Given the description of an element on the screen output the (x, y) to click on. 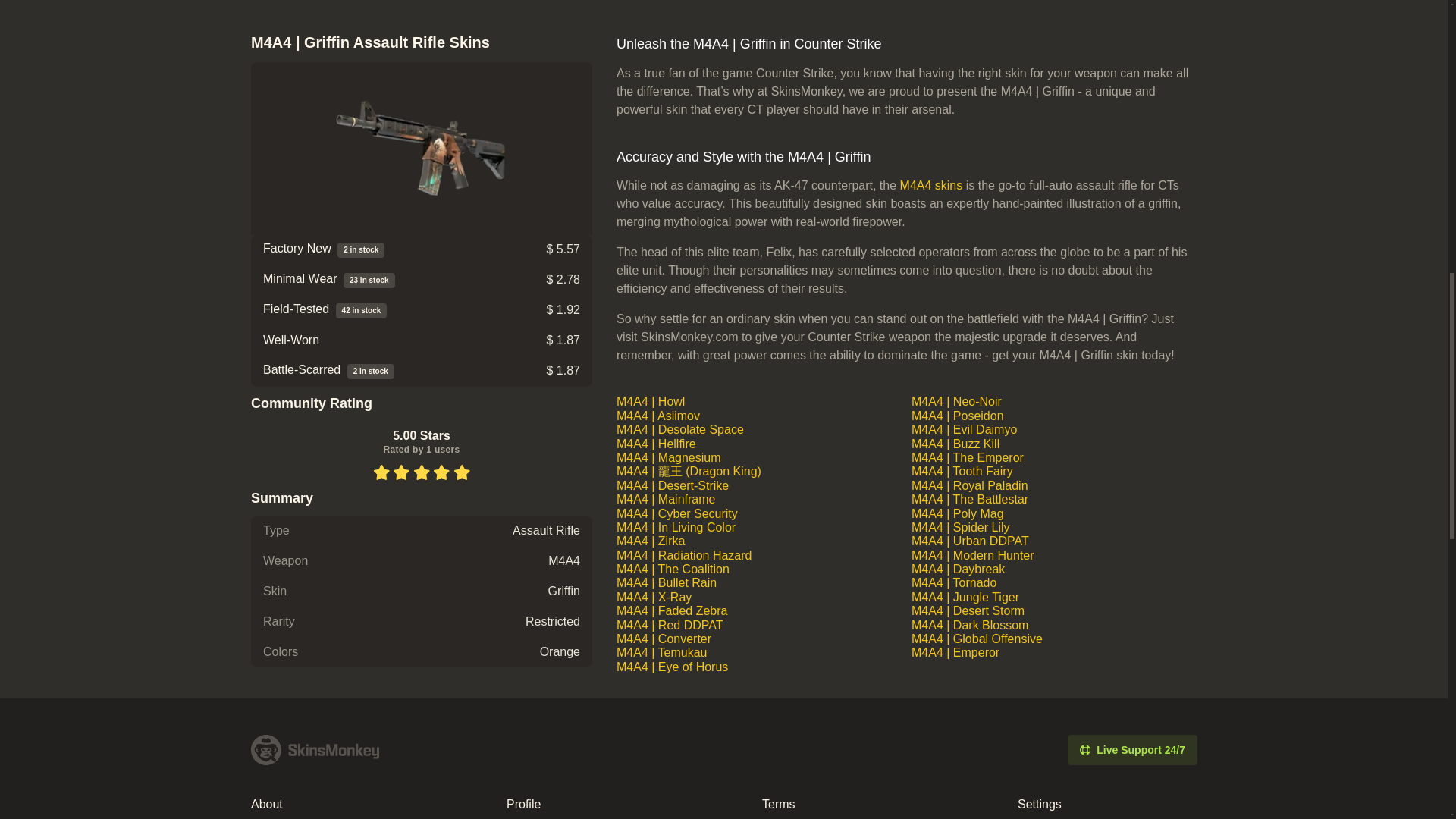
M4A4 skins (930, 185)
